Given the description of an element on the screen output the (x, y) to click on. 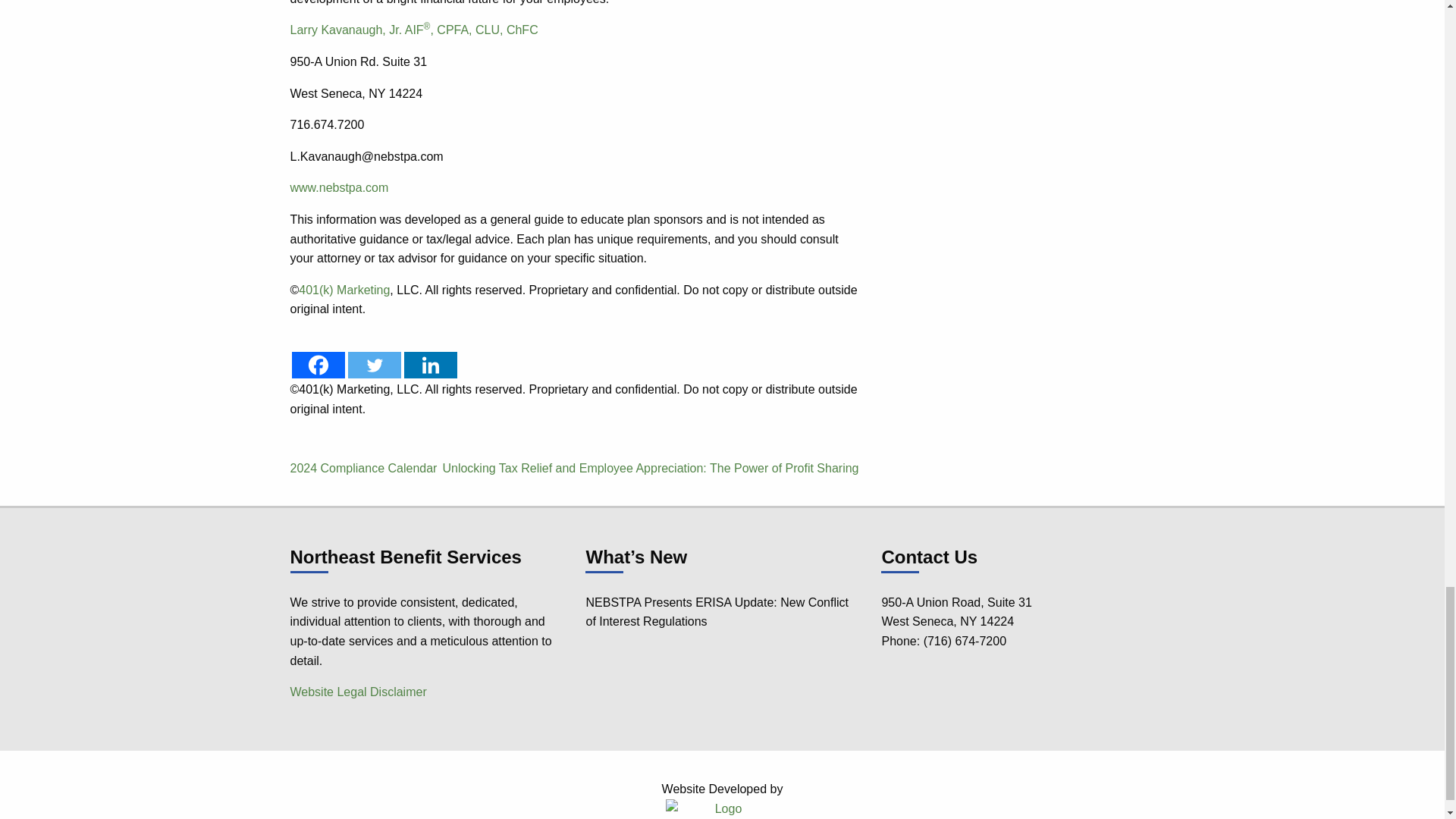
Twitter (373, 365)
Linkedin (430, 365)
Facebook (317, 365)
2024 Compliance Calendar (362, 468)
www.nebstpa.com (338, 187)
